Given the description of an element on the screen output the (x, y) to click on. 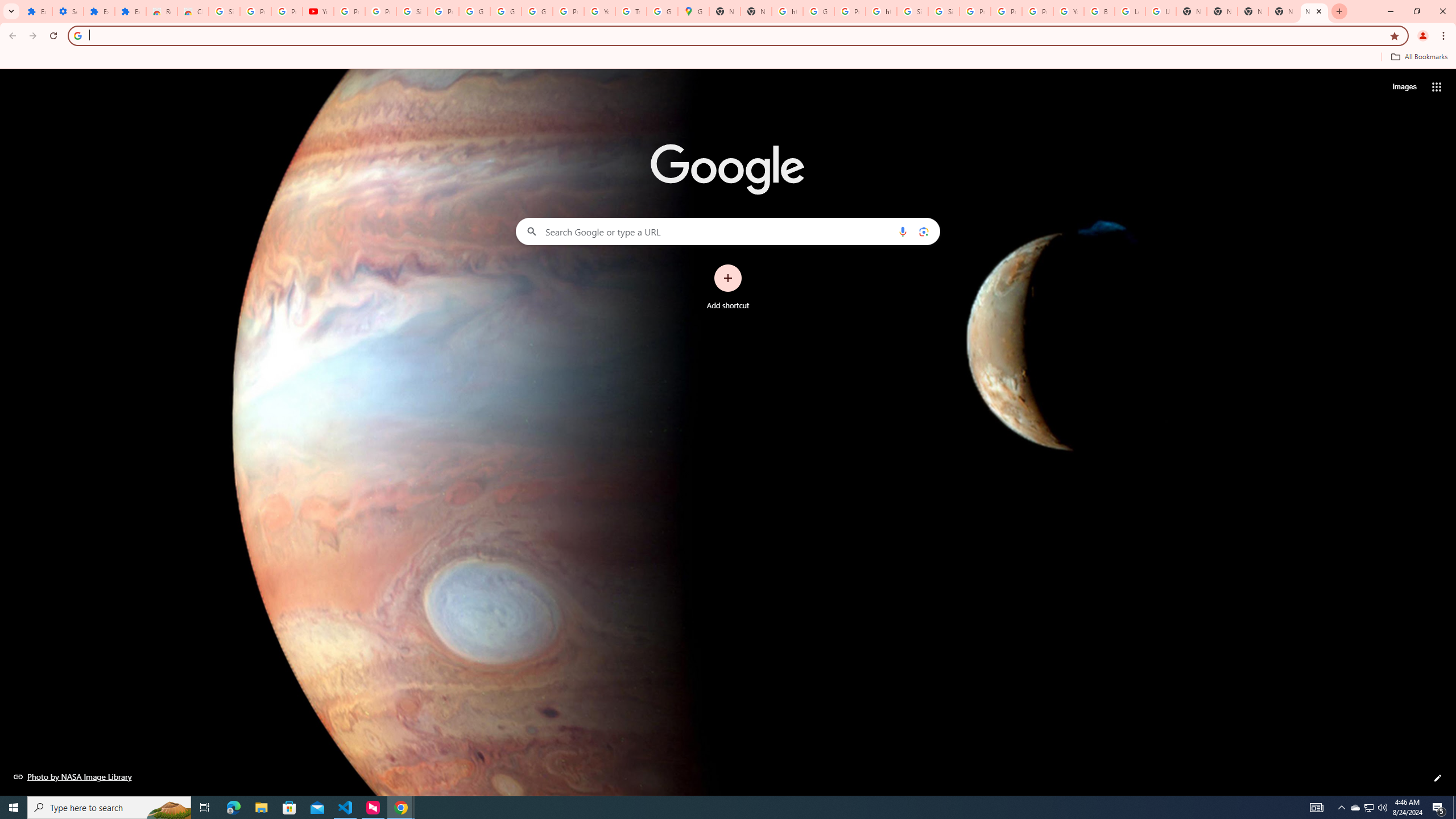
Google Account (474, 11)
Extensions (130, 11)
